Given the description of an element on the screen output the (x, y) to click on. 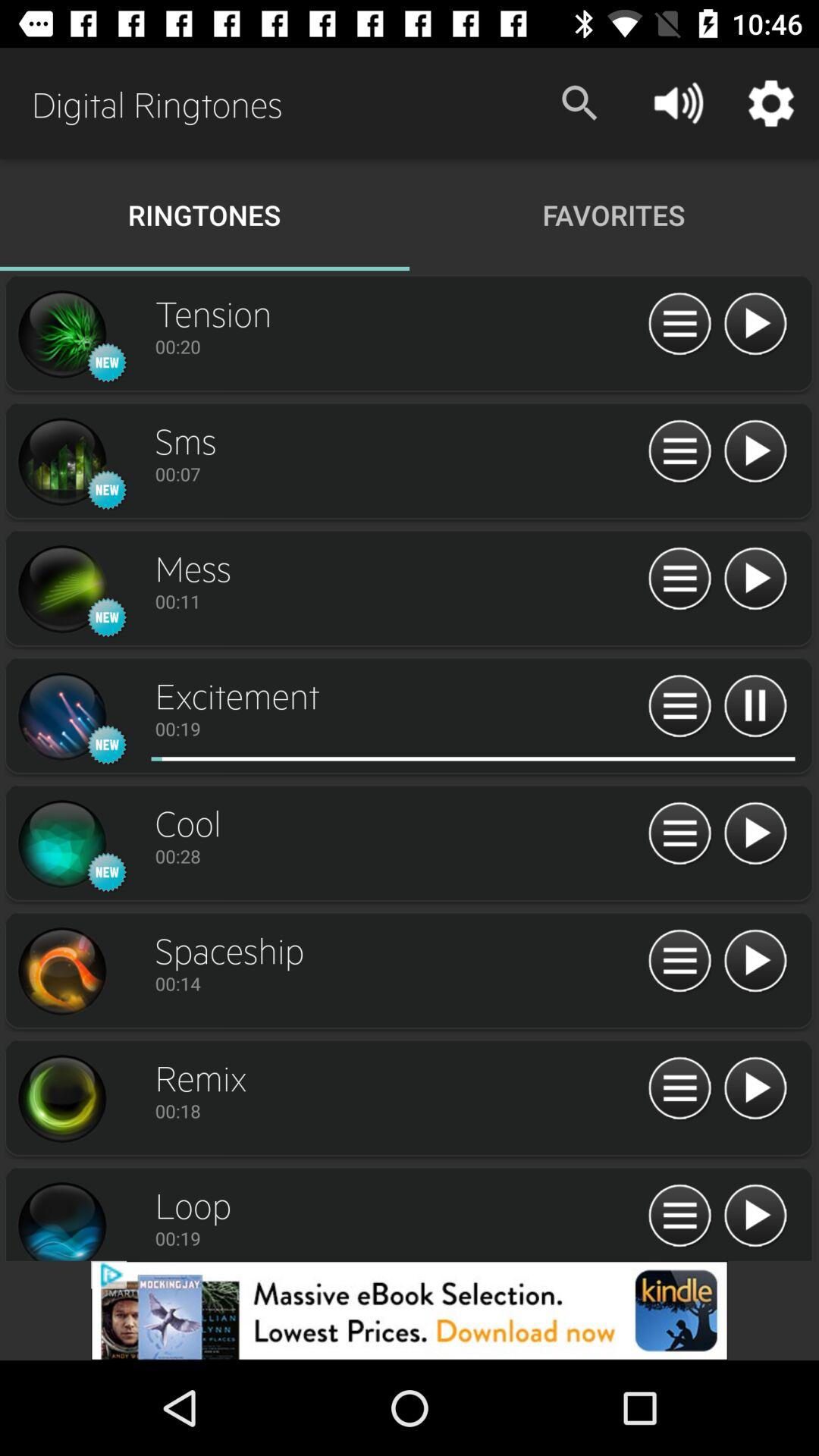
red mark (404, 758)
